Given the description of an element on the screen output the (x, y) to click on. 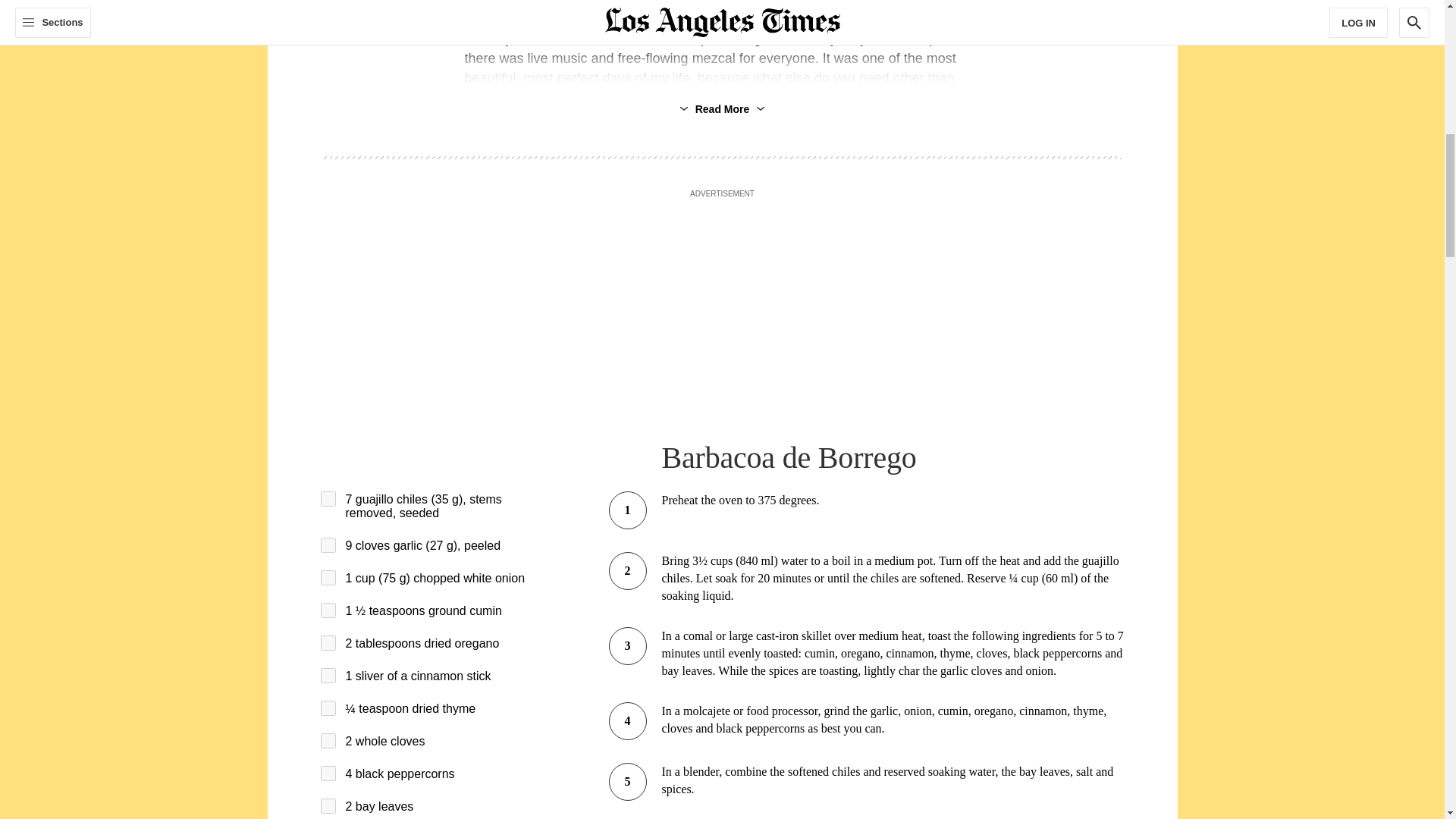
on (327, 773)
on (327, 577)
on (327, 544)
on (327, 740)
on (327, 708)
on (327, 675)
on (327, 610)
on (327, 498)
on (327, 806)
on (327, 642)
